Given the description of an element on the screen output the (x, y) to click on. 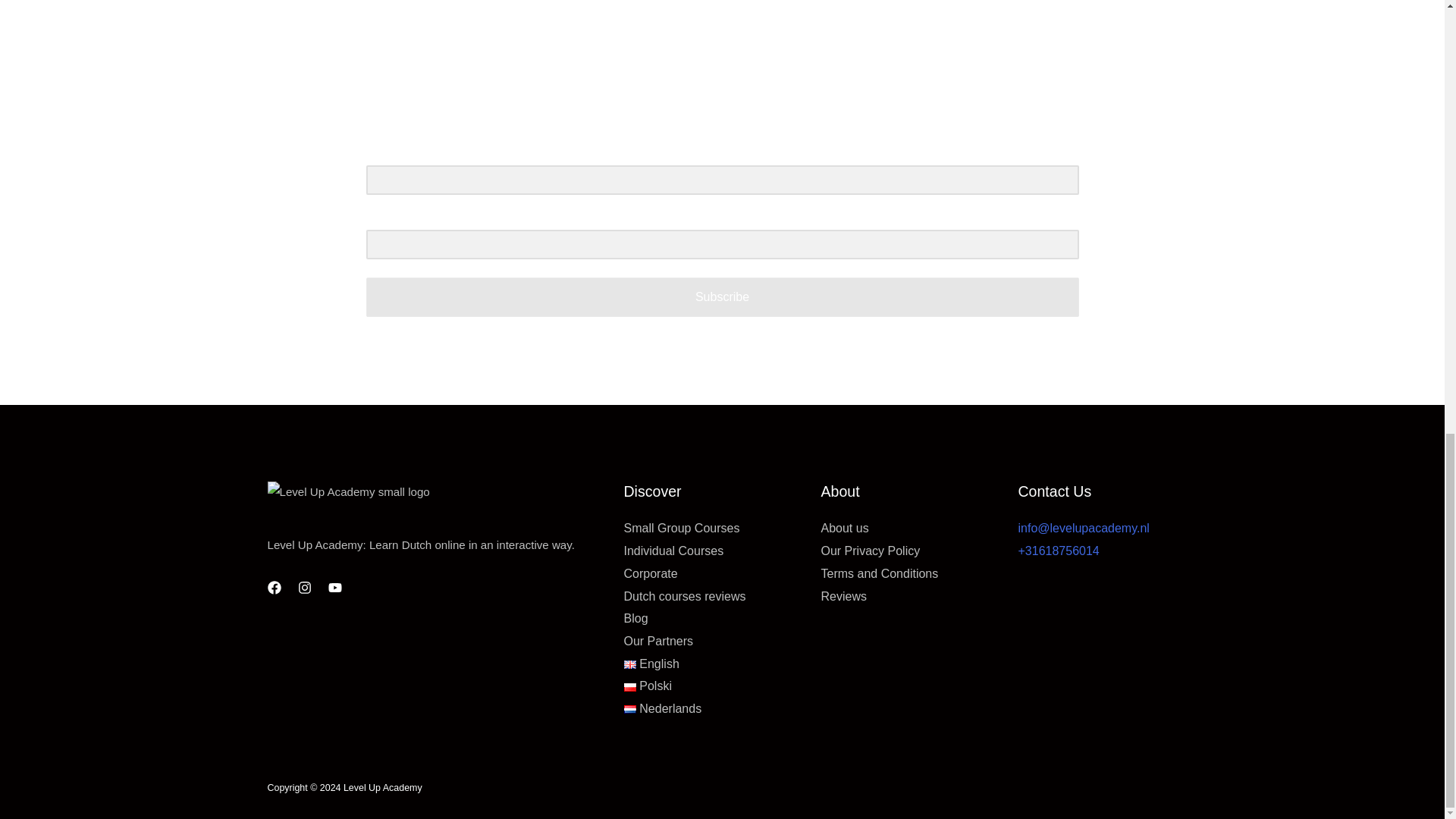
Small Group Courses (681, 527)
Corporate (650, 573)
Subscribe (721, 296)
Individual Courses (673, 550)
